Given the description of an element on the screen output the (x, y) to click on. 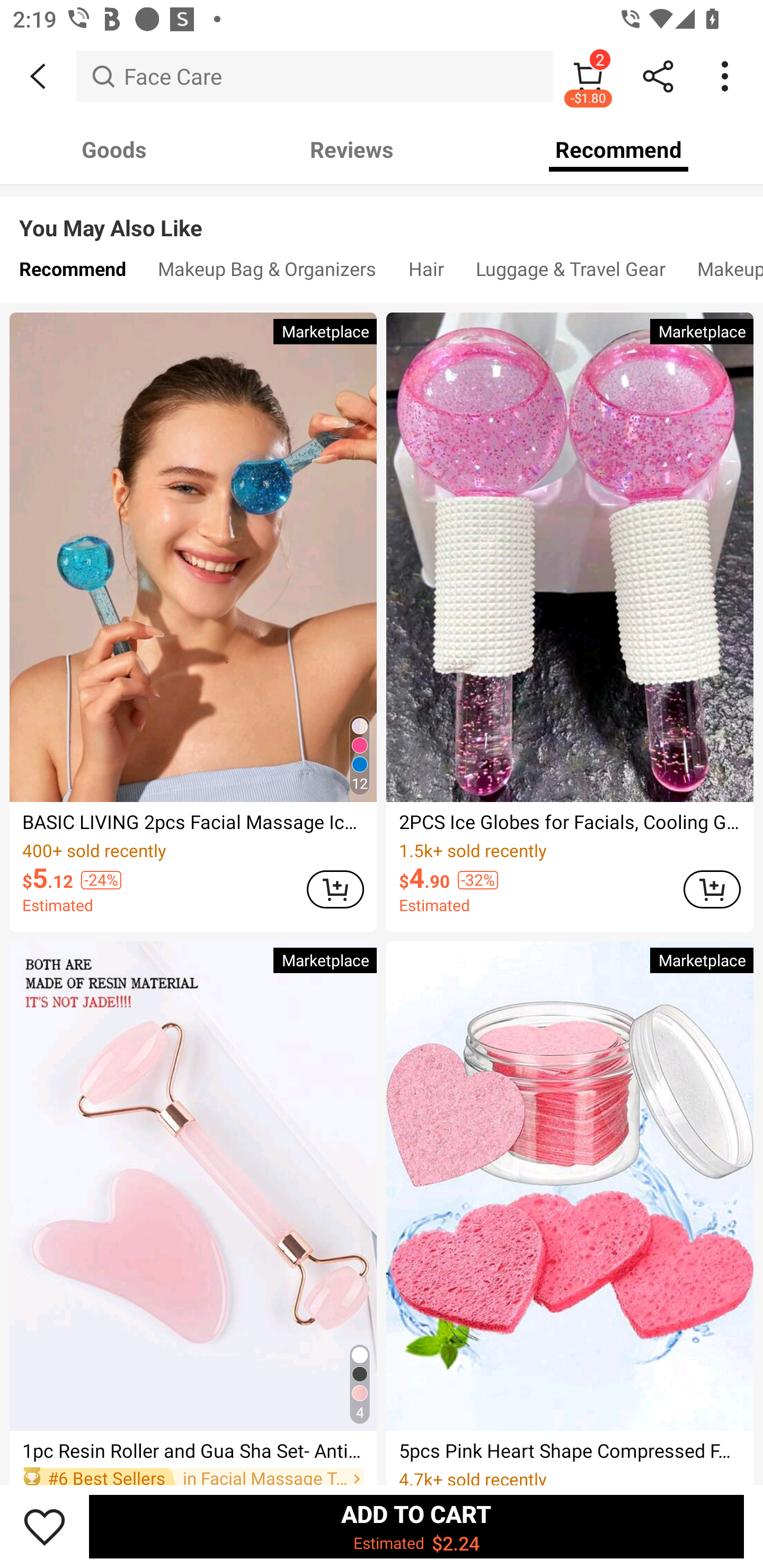
BACK (38, 75)
2 -$1.80 (588, 75)
Face Care (314, 75)
Goods (114, 149)
Reviews (351, 149)
Recommend (618, 149)
You May Also Like (381, 214)
Recommend (72, 273)
Makeup Bag & Organizers (266, 273)
Hair (426, 273)
Luggage & Travel Gear (570, 273)
Makeup (722, 273)
ADD TO CART (334, 888)
ADD TO CART (711, 888)
#6 Best Sellers in Facial Massage Tools (192, 1475)
ADD TO CART Estimated   $2.24 (416, 1526)
Save (44, 1526)
